Given the description of an element on the screen output the (x, y) to click on. 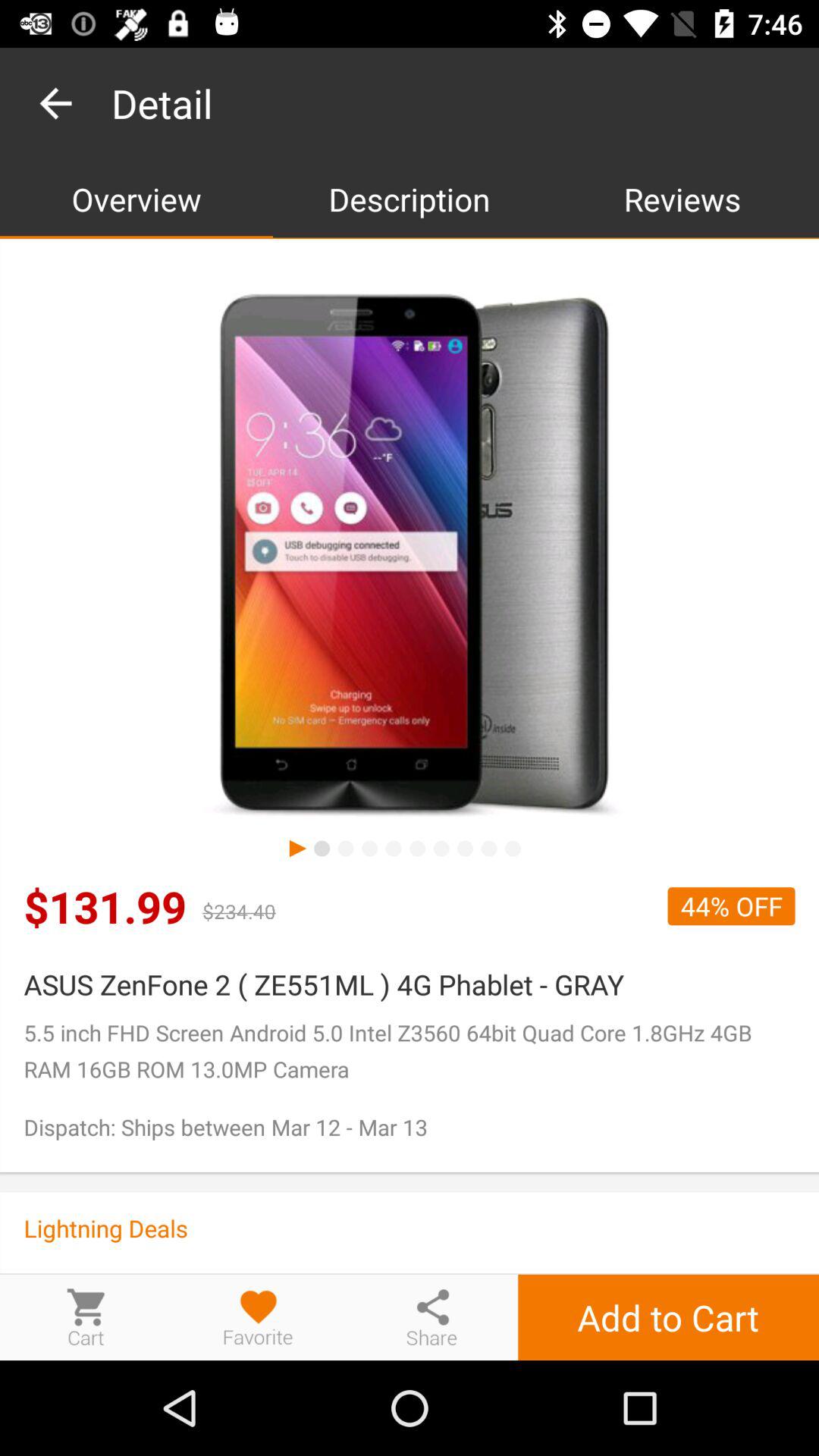
turn on item at the top (409, 198)
